Given the description of an element on the screen output the (x, y) to click on. 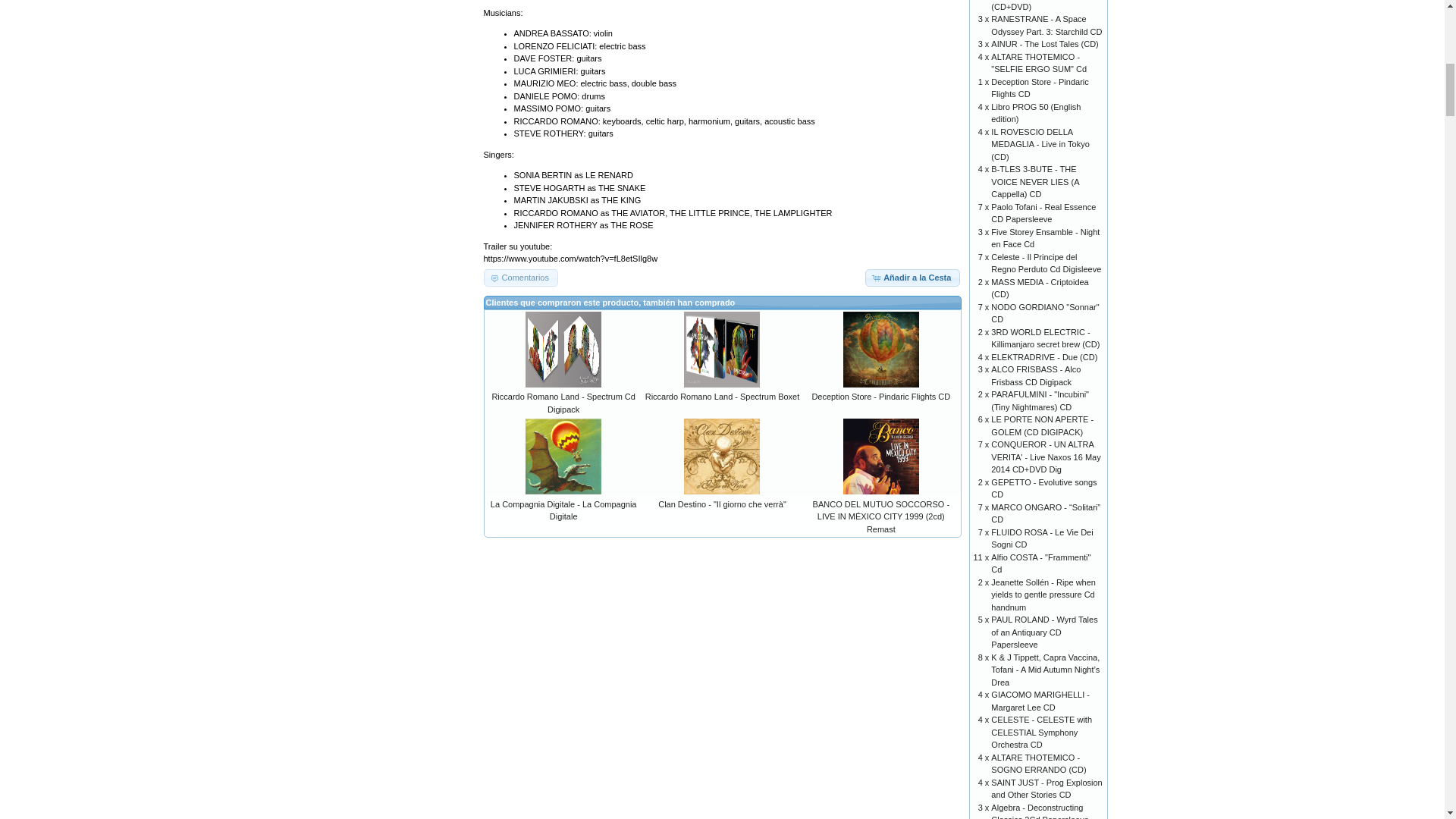
Riccardo Romano Land - Spectrum Boxet (722, 349)
Deception Store - Pindaric Flights CD (880, 349)
Comentarios (520, 277)
La Compagnia Digitale - La Compagnia Digitale (563, 510)
Deception Store - Pindaric Flights CD (880, 396)
Riccardo Romano Land - Spectrum Boxet (722, 396)
La Compagnia Digitale - La Compagnia Digitale (563, 456)
Riccardo Romano Land - Spectrum Cd Digipack (563, 349)
Riccardo Romano Land - Spectrum Cd Digipack (563, 403)
